Given the description of an element on the screen output the (x, y) to click on. 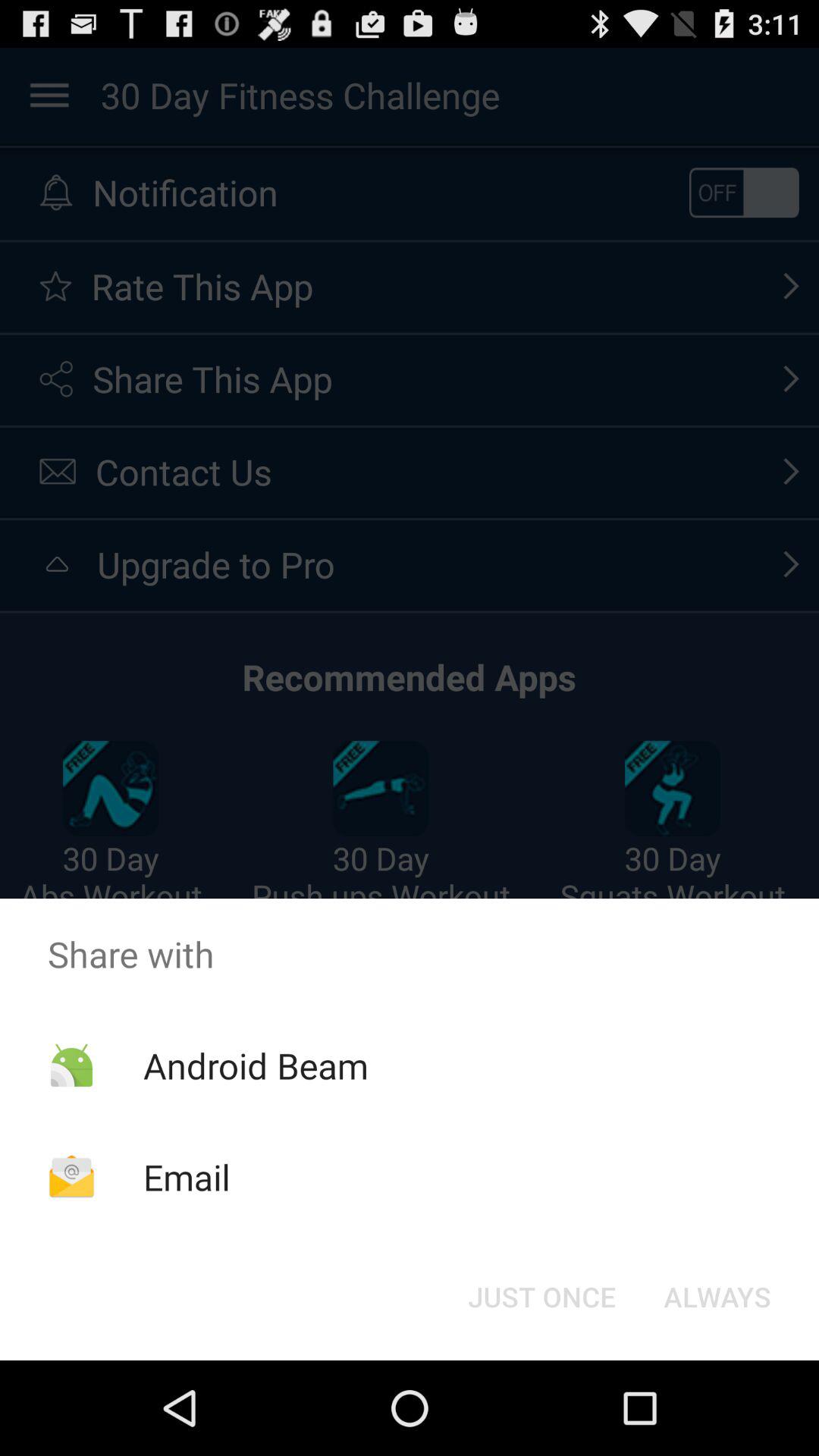
tap the just once button (541, 1296)
